Given the description of an element on the screen output the (x, y) to click on. 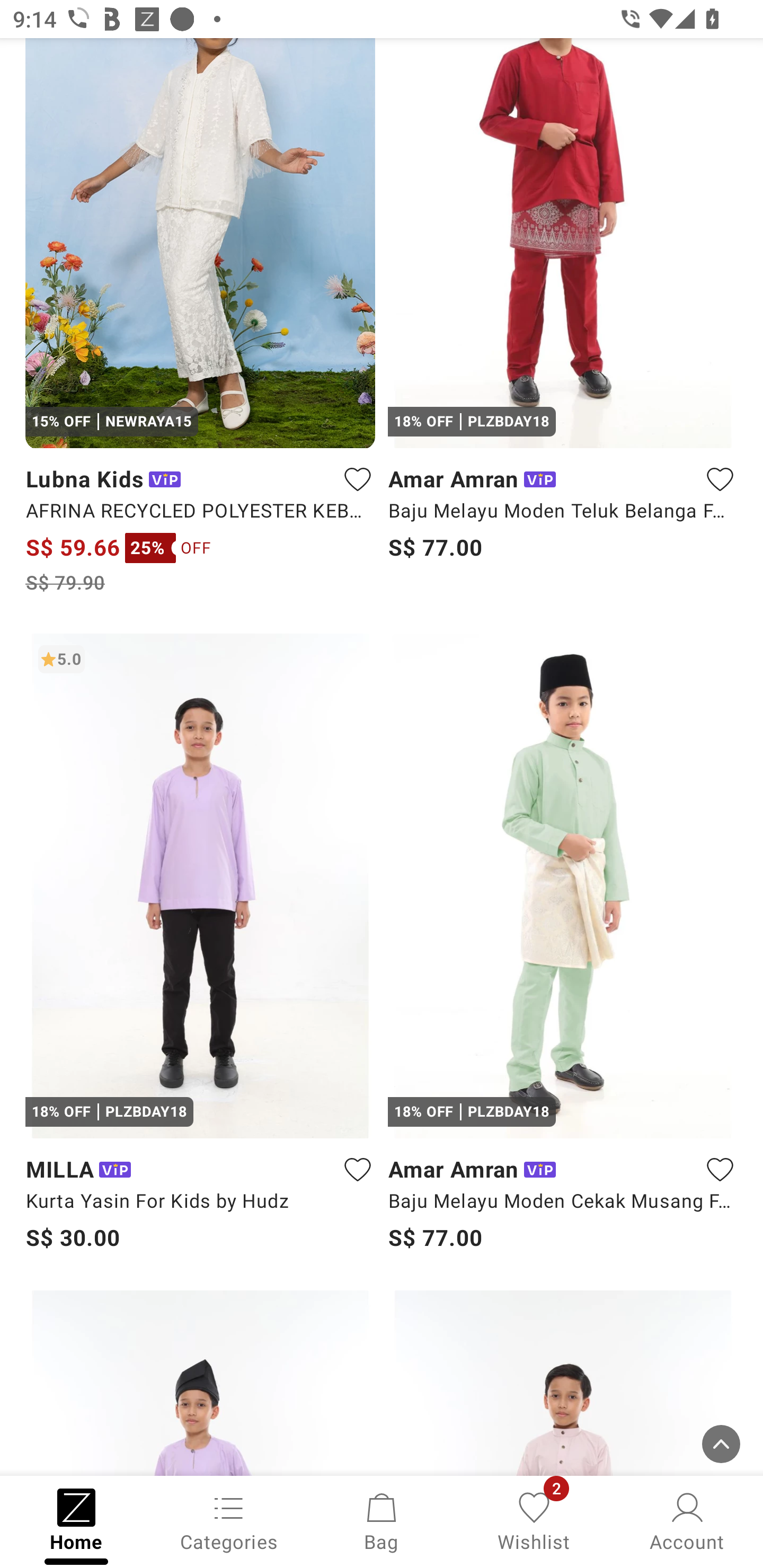
Categories (228, 1519)
Bag (381, 1519)
Wishlist, 2 new notifications Wishlist (533, 1519)
Account (686, 1519)
